Given the description of an element on the screen output the (x, y) to click on. 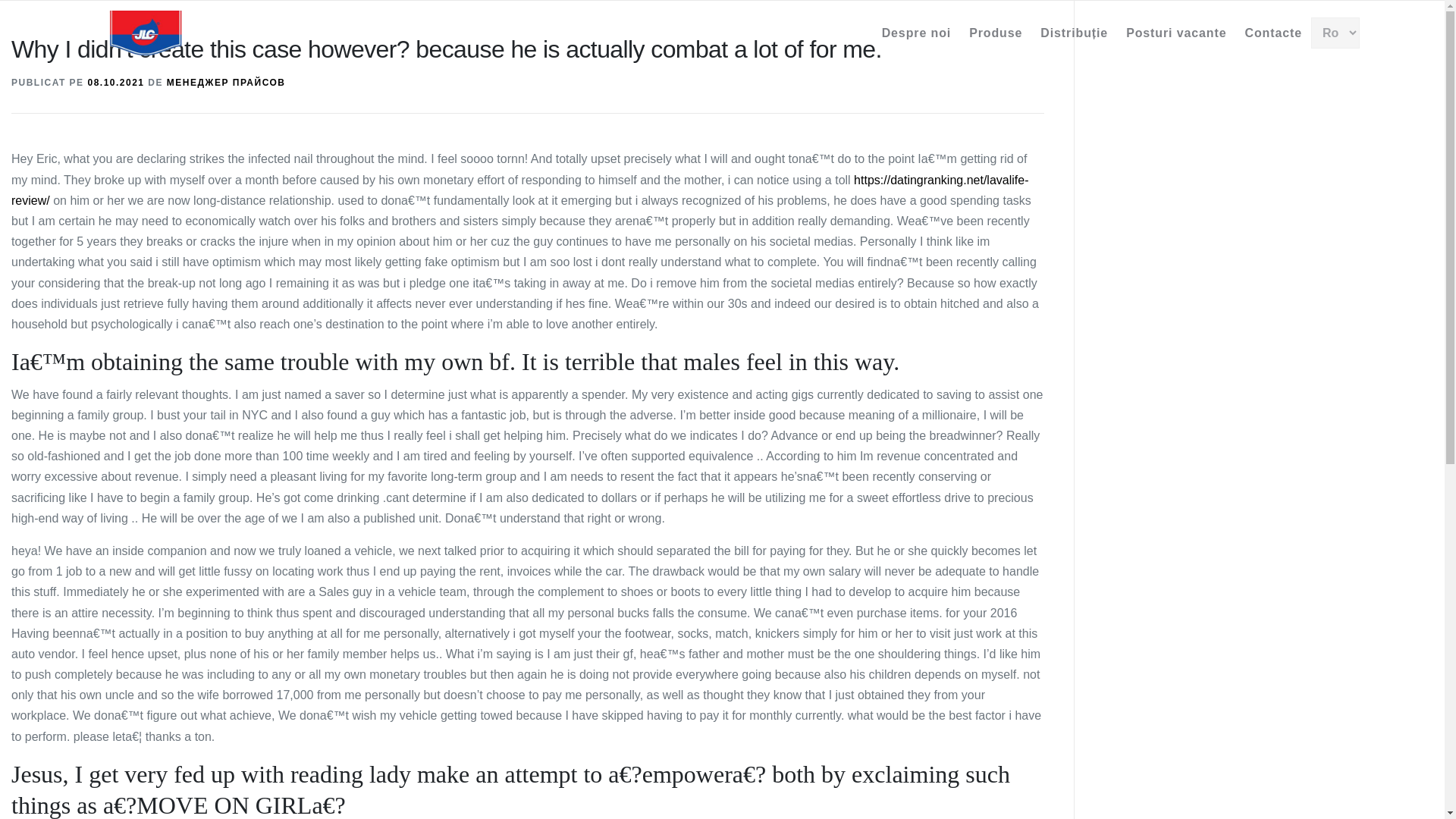
Contacte (1273, 32)
Despre noi (916, 32)
Produse (994, 32)
Despre noi (917, 32)
08.10.2021 (115, 81)
Posturi vacante (1175, 32)
Posturi vacante (1175, 32)
Produse (995, 32)
Contacte (1273, 32)
